Given the description of an element on the screen output the (x, y) to click on. 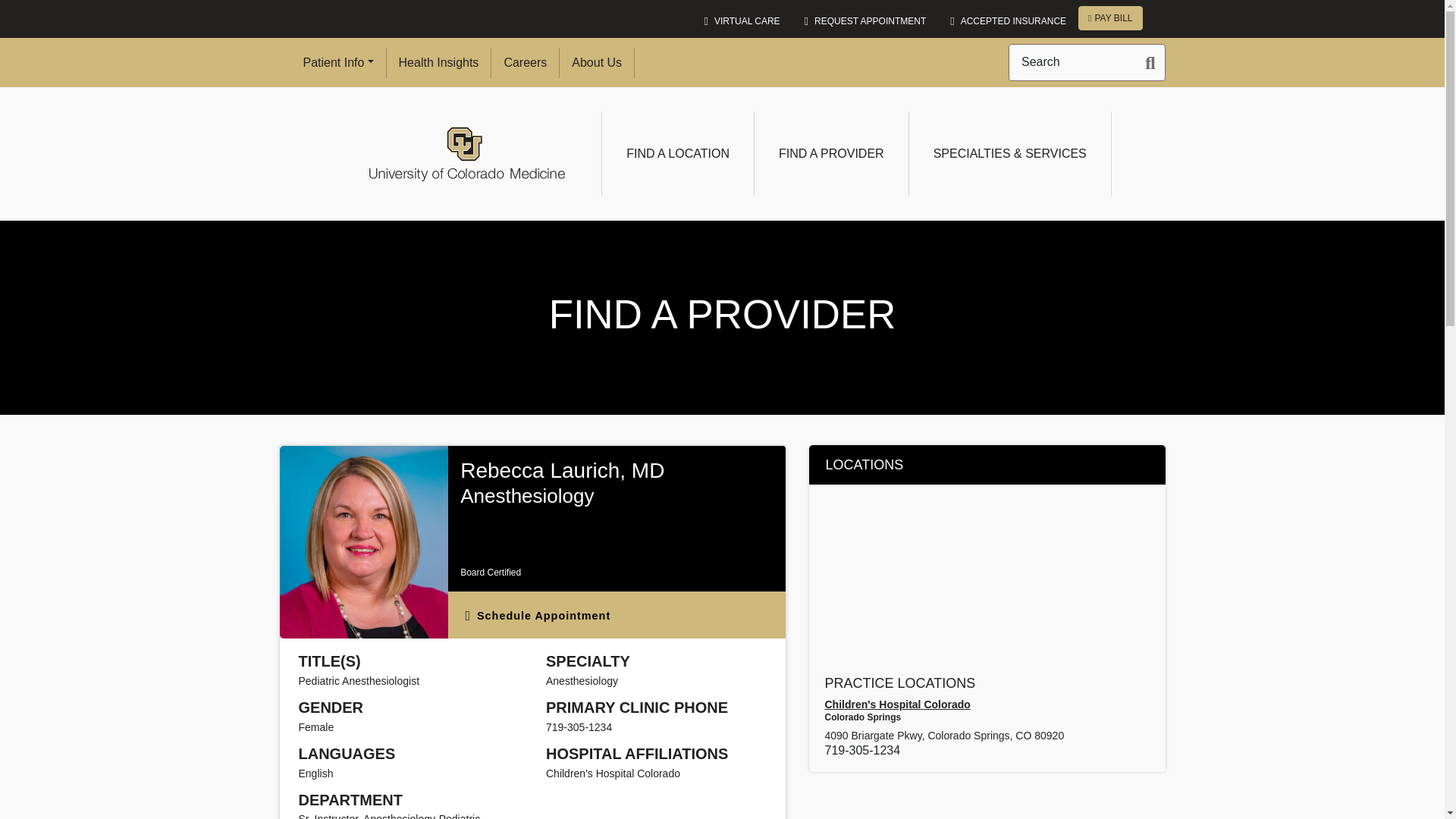
REQUEST APPOINTMENT (865, 20)
Health Insights (438, 61)
Patient Info (338, 61)
Schedule Appointment (617, 614)
Careers (525, 61)
FIND A PROVIDER (831, 153)
ACCEPTED INSURANCE (1007, 20)
Children's Hospital Colorado (987, 704)
Accepted insurance (1007, 20)
PAY BILL (1109, 17)
FIND A LOCATION (677, 153)
About Us (596, 61)
VIRTUAL CARE (741, 20)
Request appointment (865, 20)
Virtual care (741, 20)
